Given the description of an element on the screen output the (x, y) to click on. 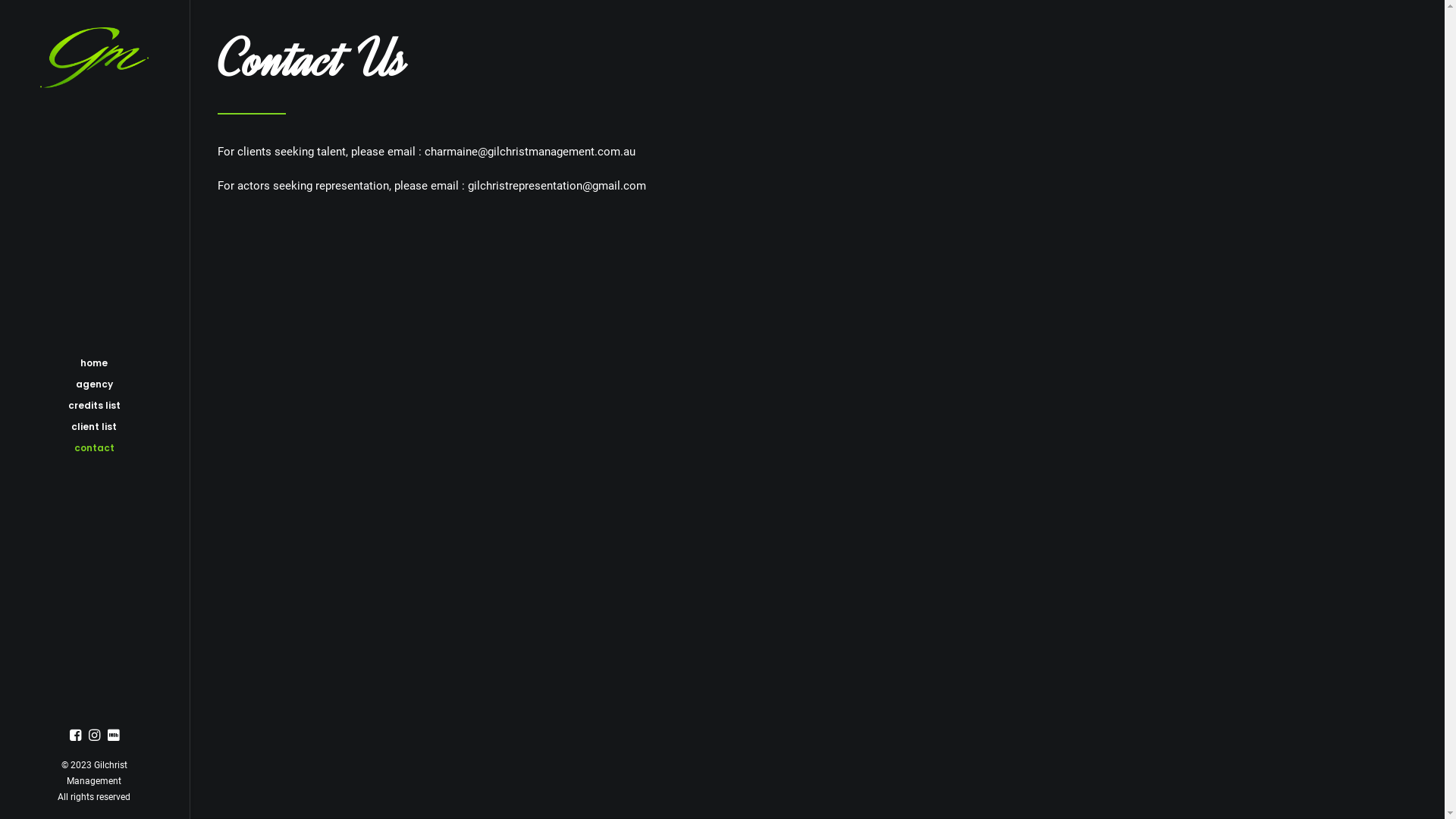
gilchristrepresentation@gmail.com Element type: text (556, 185)
charmaine@gilchristmanagement.com.au Element type: text (529, 151)
